Given the description of an element on the screen output the (x, y) to click on. 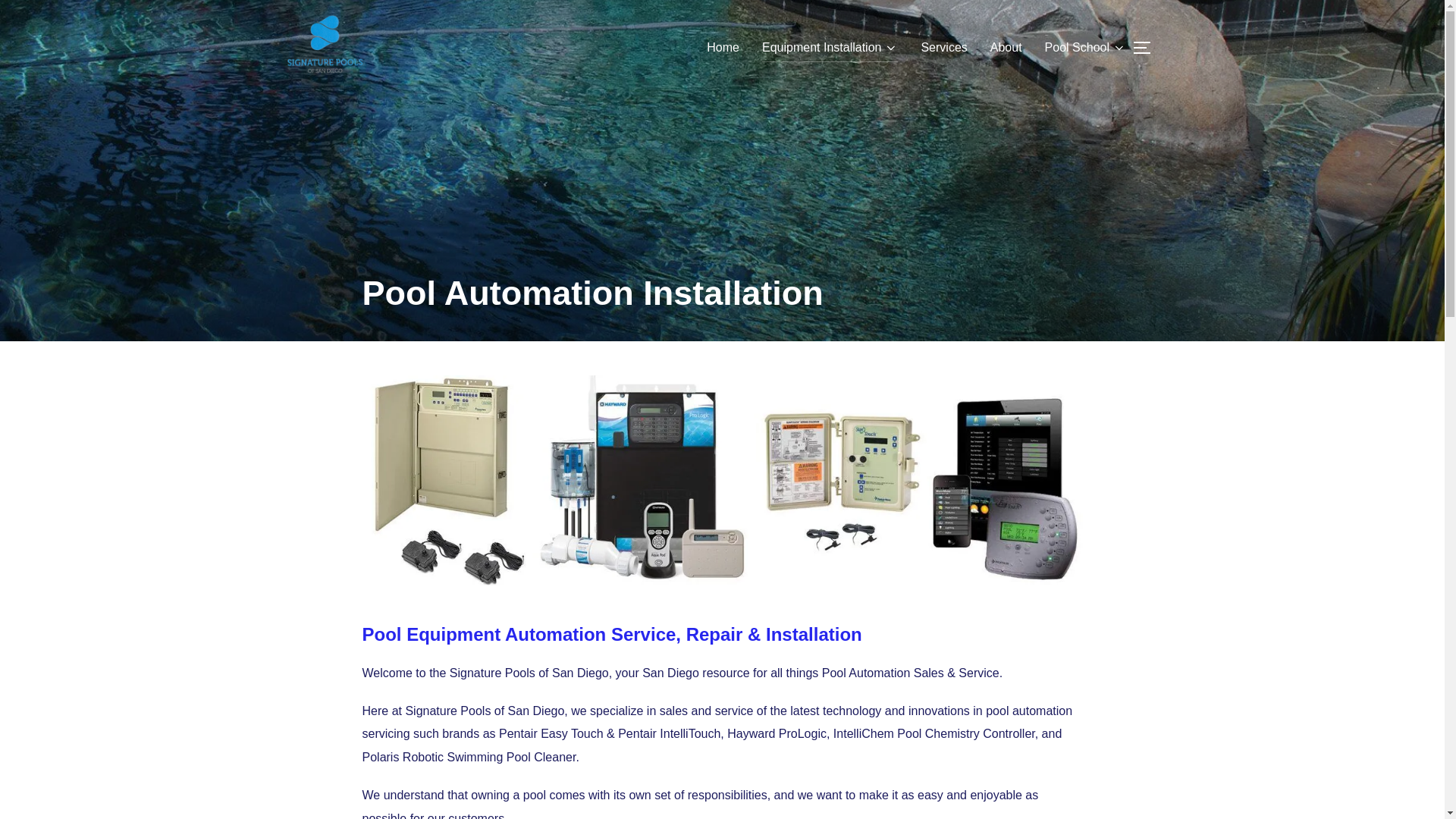
Home (722, 47)
Services (943, 47)
Equipment Installation (829, 47)
Pool School (1085, 47)
About (1006, 47)
